Given the description of an element on the screen output the (x, y) to click on. 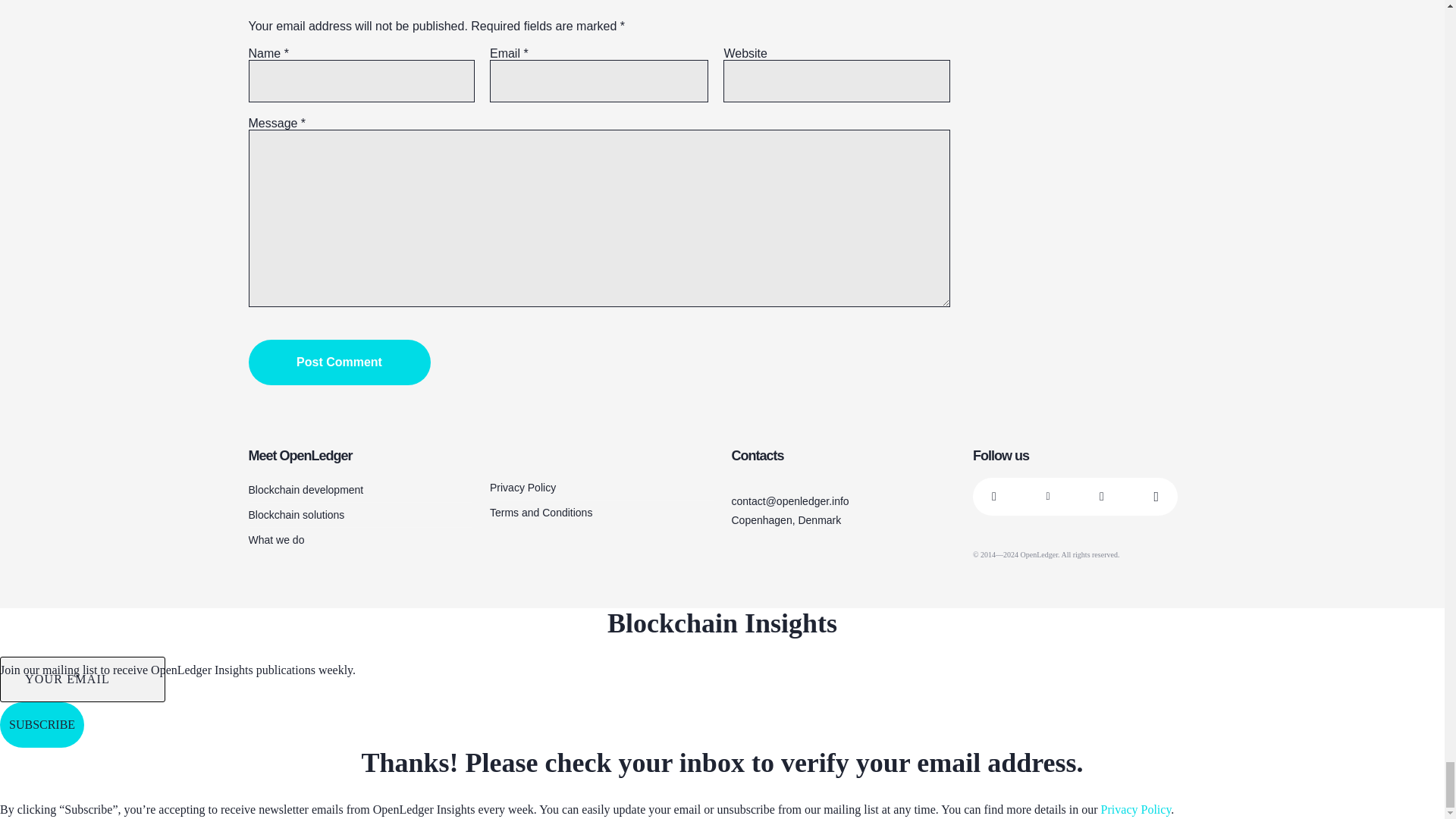
Post Comment (339, 361)
